Given the description of an element on the screen output the (x, y) to click on. 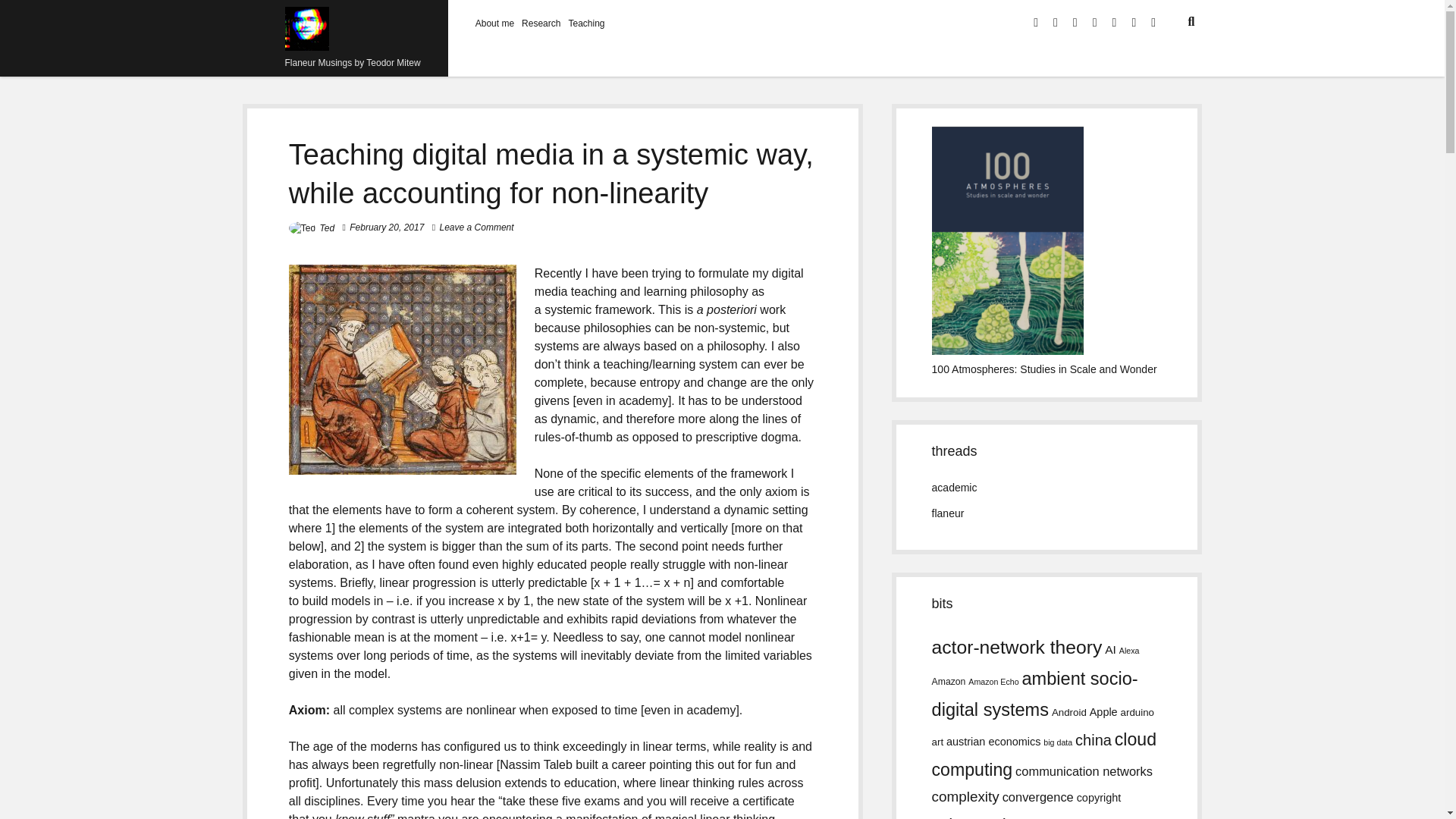
Ted (327, 227)
Leave a Comment (476, 226)
flaneur (947, 512)
actor-network theory (1016, 647)
100 Atmospheres: Studies in Scale and Wonder (1044, 369)
February 20, 2017 (386, 226)
academic (953, 487)
Teaching (585, 23)
About me (494, 23)
Research (540, 23)
